Given the description of an element on the screen output the (x, y) to click on. 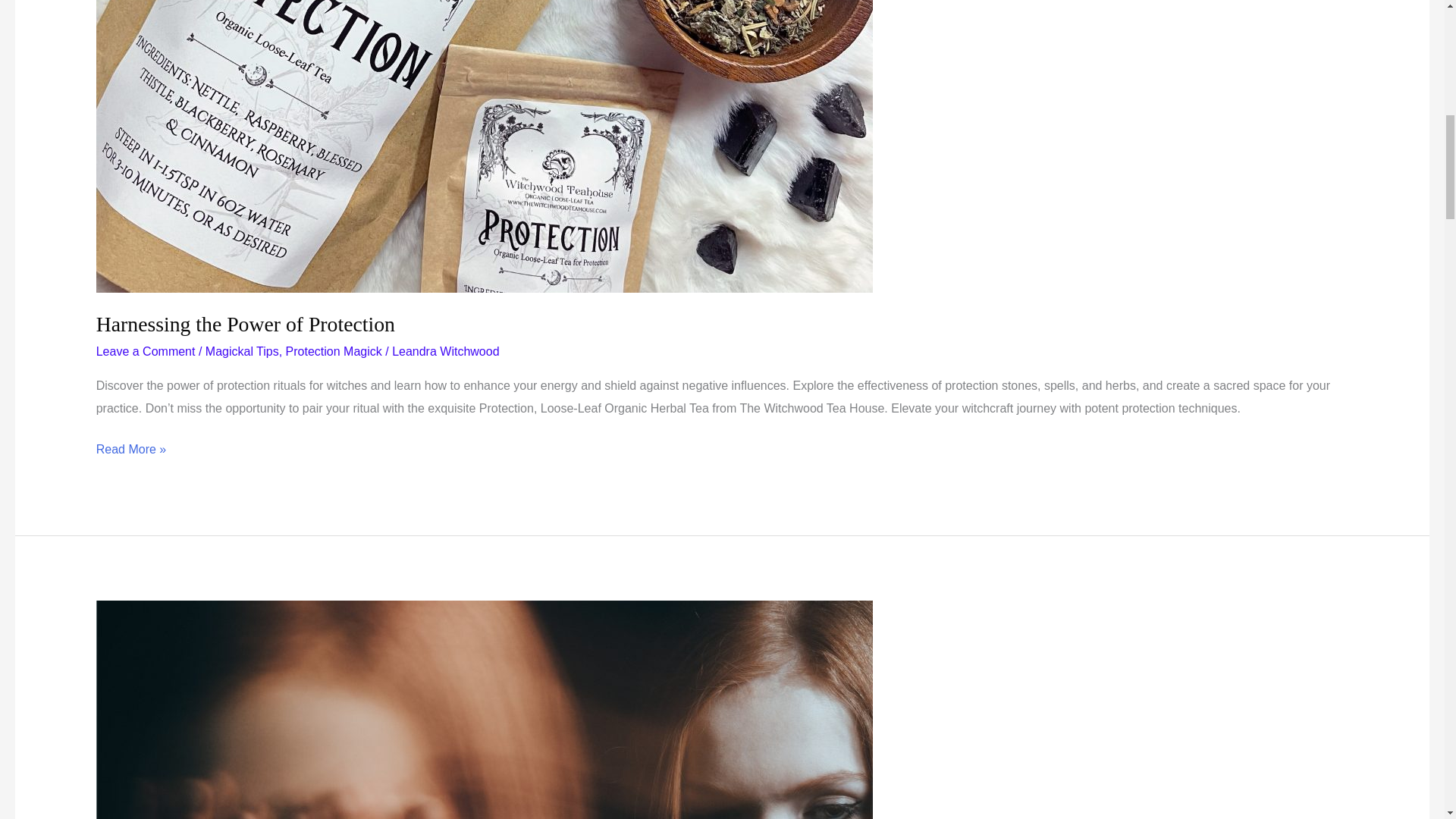
View all posts by Leandra Witchwood (445, 350)
